Given the description of an element on the screen output the (x, y) to click on. 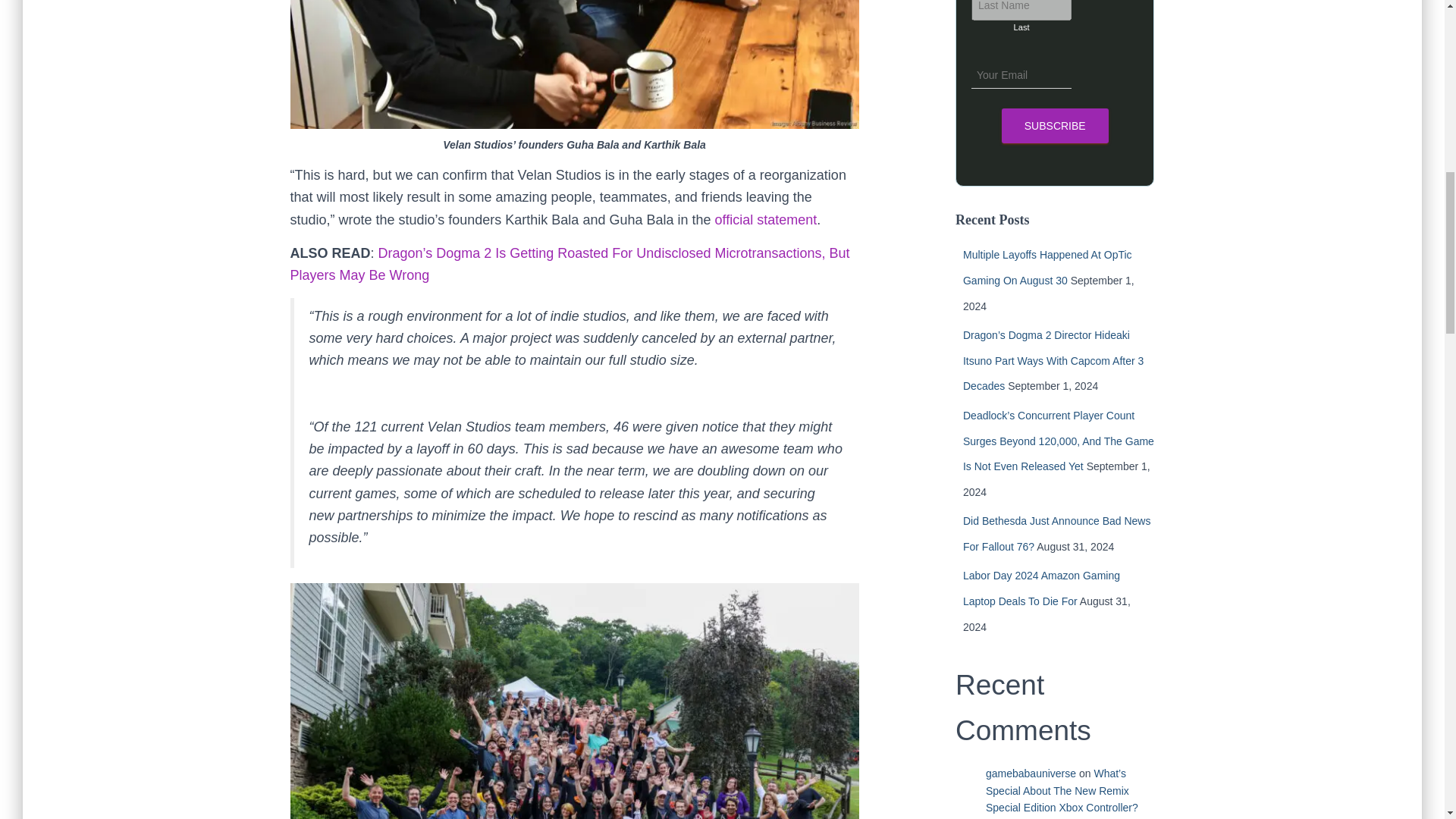
SUBSCRIBE (1054, 126)
Did Bethesda Just Announce Bad News For Fallout 76? (1056, 533)
Labor Day 2024 Amazon Gaming Laptop Deals To Die For (1040, 588)
gamebabauniverse (1030, 773)
official statement (765, 219)
Multiple Layoffs Happened At OpTic Gaming On August 30 (1047, 267)
